Given the description of an element on the screen output the (x, y) to click on. 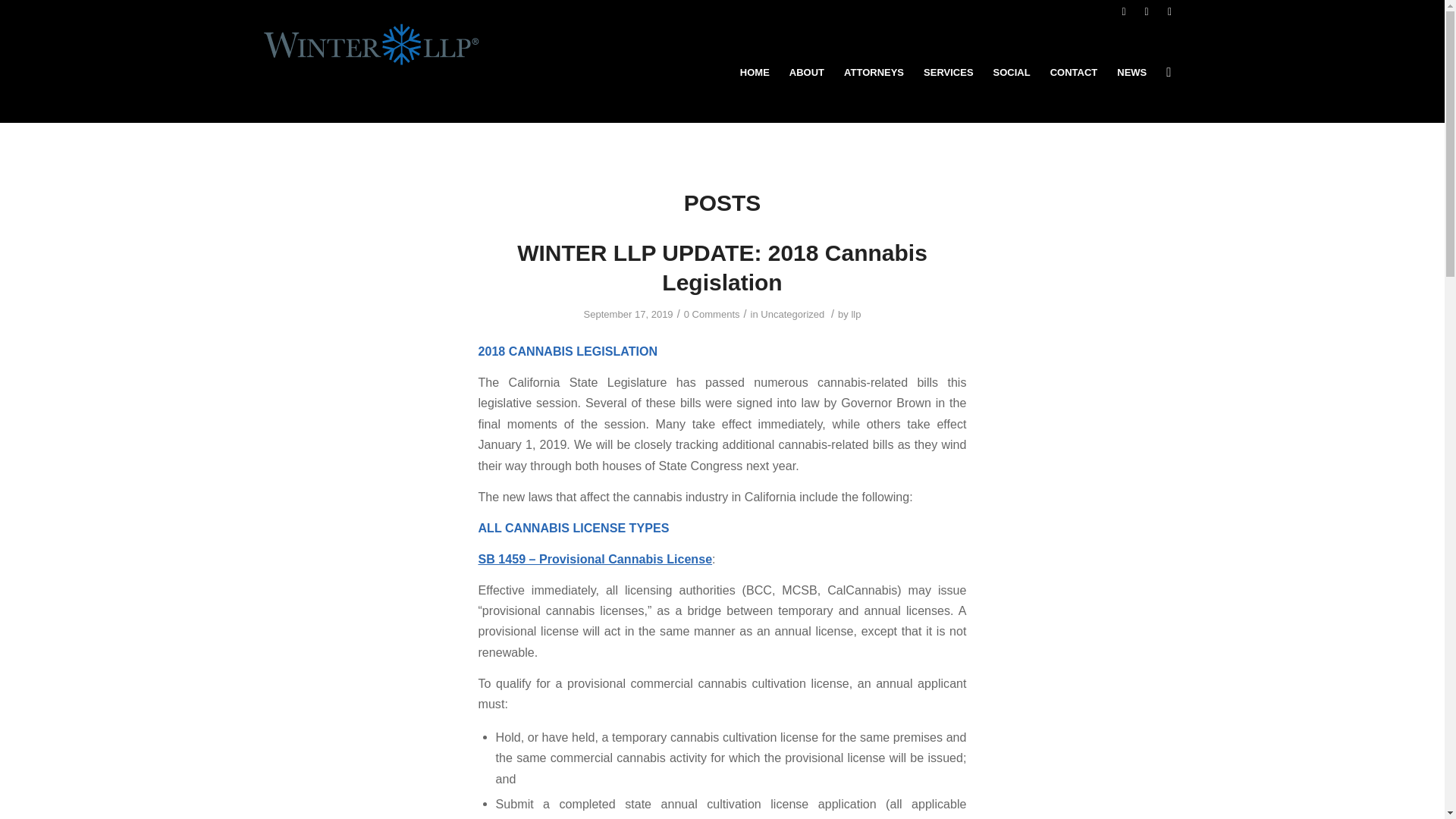
Uncategorized (792, 314)
Instagram (1169, 11)
Twitter (1146, 11)
Permanent Link: WINTER LLP UPDATE: 2018 Cannabis Legislation (721, 267)
WINTER LLP UPDATE: 2018 Cannabis Legislation (721, 267)
0 Comments (711, 314)
Facebook (1124, 11)
